Given the description of an element on the screen output the (x, y) to click on. 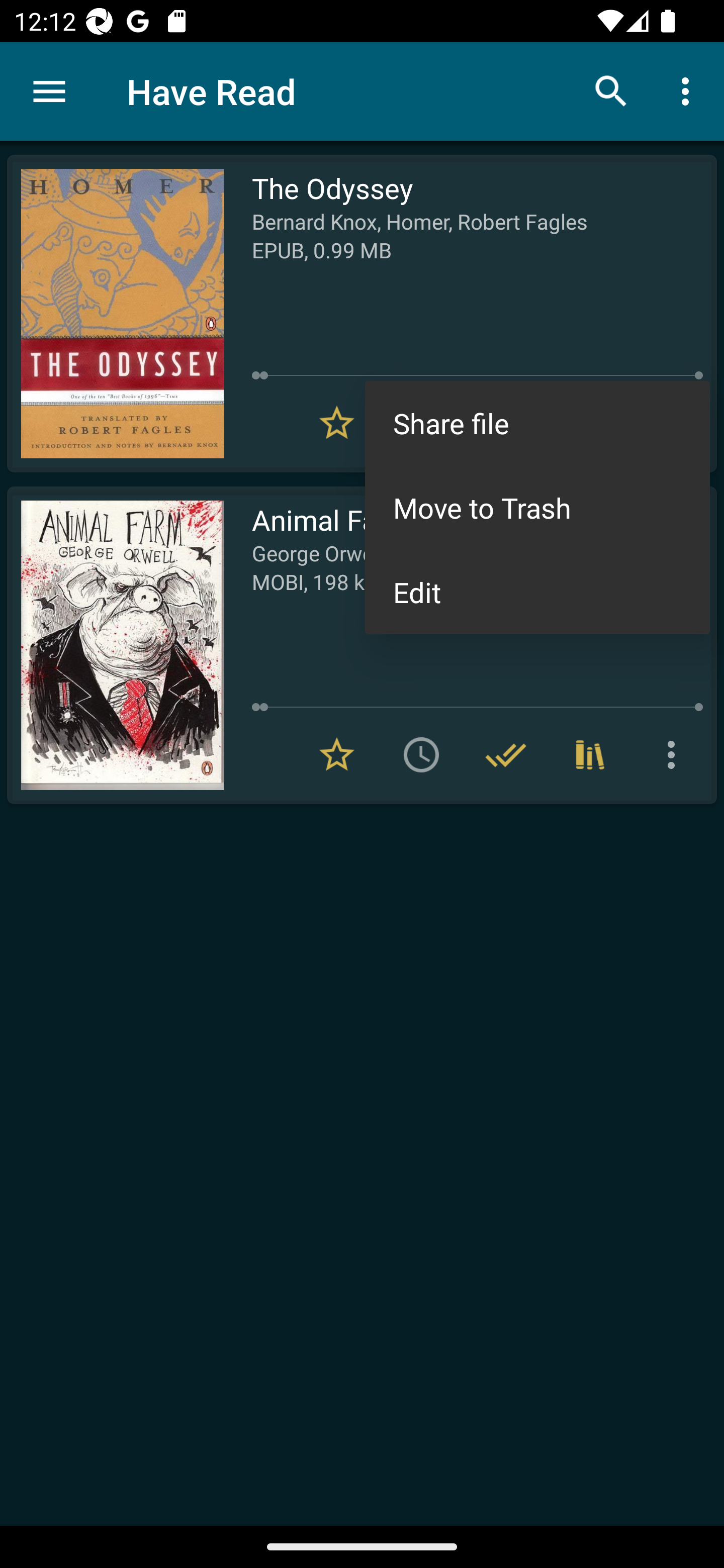
Share file (537, 423)
Move to Trash (537, 507)
Edit (537, 591)
